Given the description of an element on the screen output the (x, y) to click on. 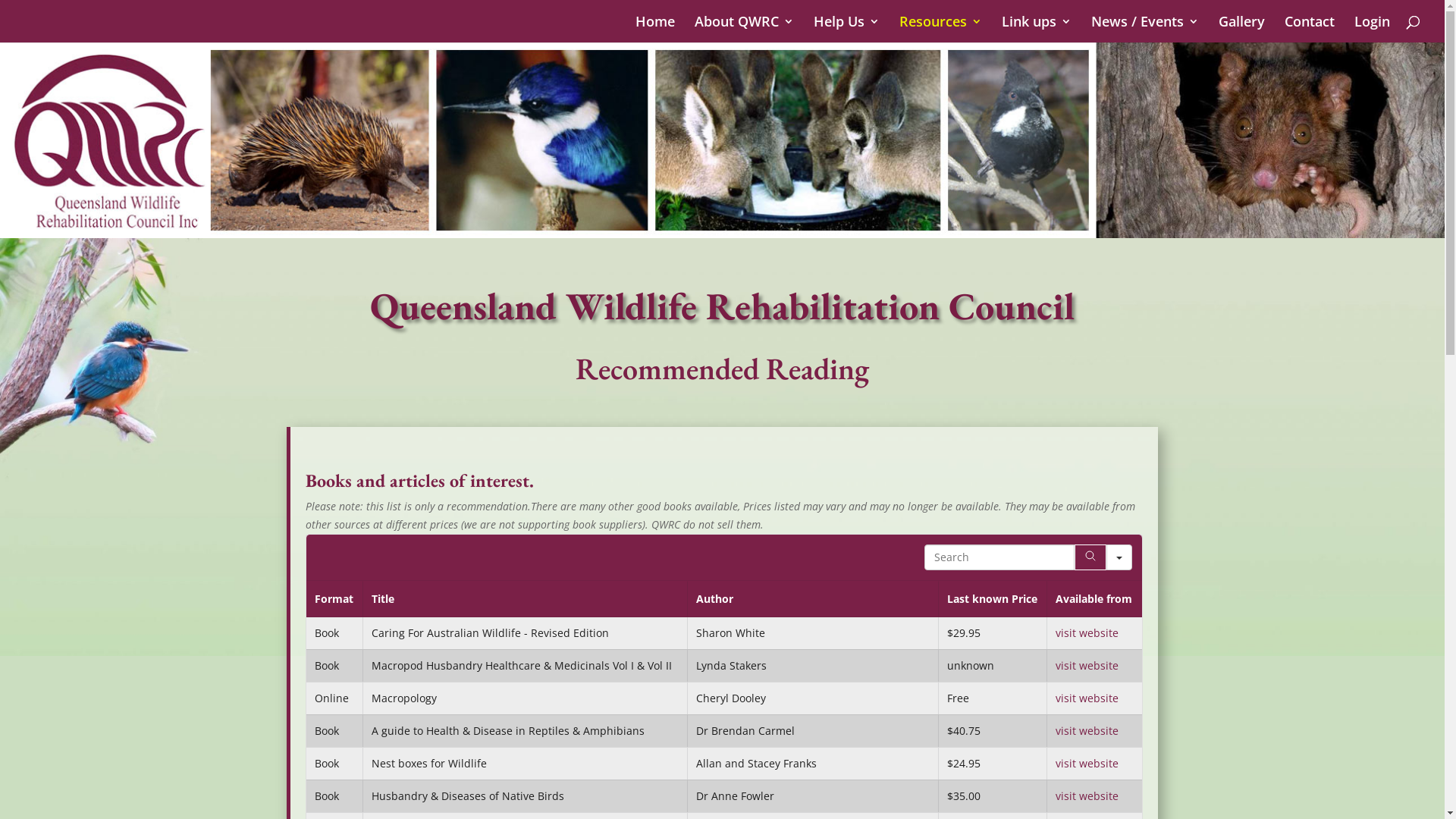
visit website Element type: text (1086, 632)
Home Element type: text (654, 28)
visit website Element type: text (1086, 795)
Login Element type: text (1372, 28)
Resources Element type: text (940, 28)
visit website Element type: text (1086, 697)
visit website Element type: text (1086, 730)
visit website Element type: text (1086, 665)
visit website Element type: text (1086, 763)
QWRC Banner strip Element type: hover (722, 140)
Help Us Element type: text (846, 28)
Search in Element type: text (1119, 557)
Search Element type: text (1090, 557)
Link ups Element type: text (1036, 28)
Contact Element type: text (1309, 28)
About QWRC Element type: text (743, 28)
Gallery Element type: text (1241, 28)
News / Events Element type: text (1144, 28)
